Given the description of an element on the screen output the (x, y) to click on. 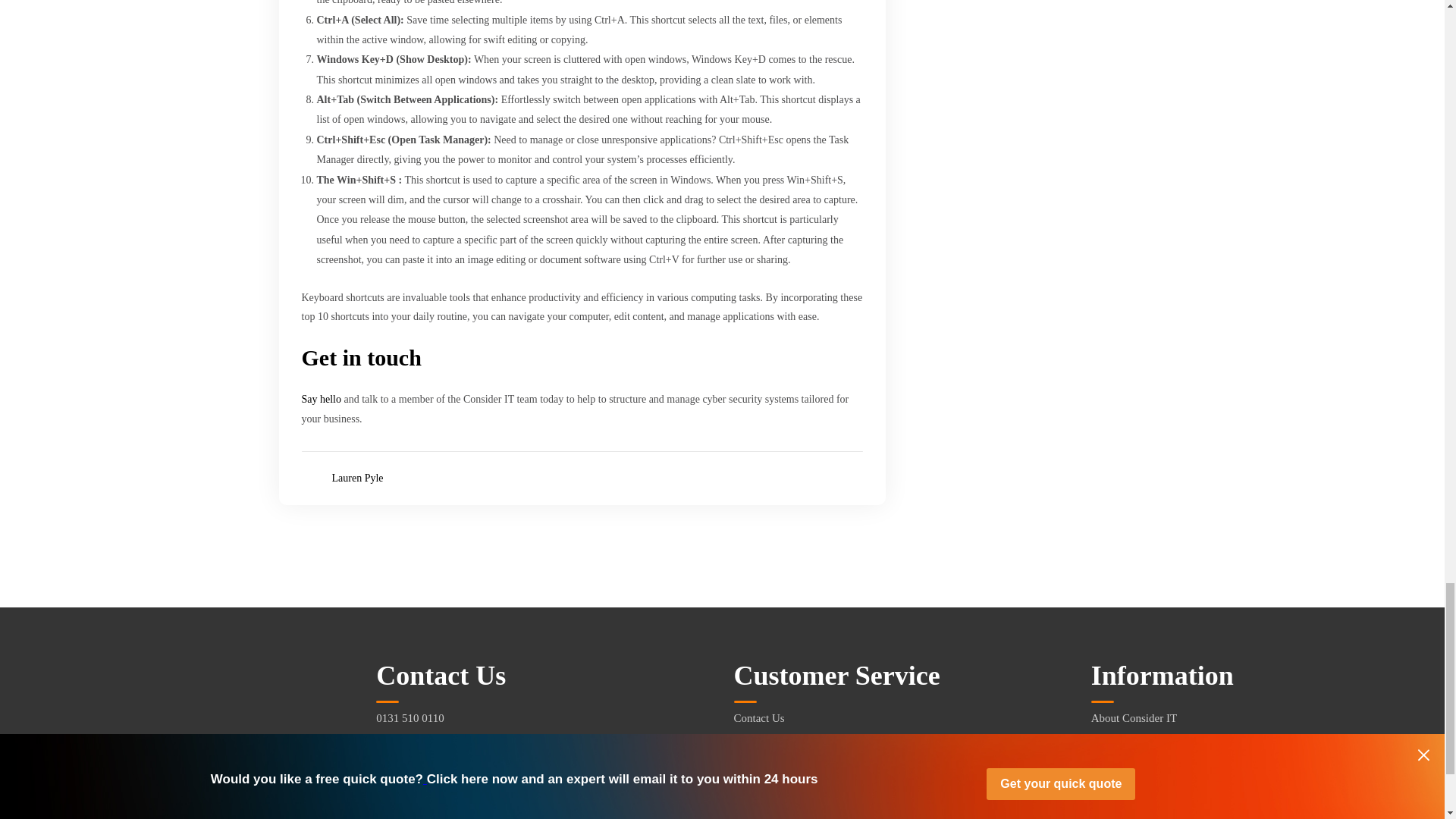
considerIT-new-logo (106, 713)
Posts by Lauren Pyle (357, 478)
